Given the description of an element on the screen output the (x, y) to click on. 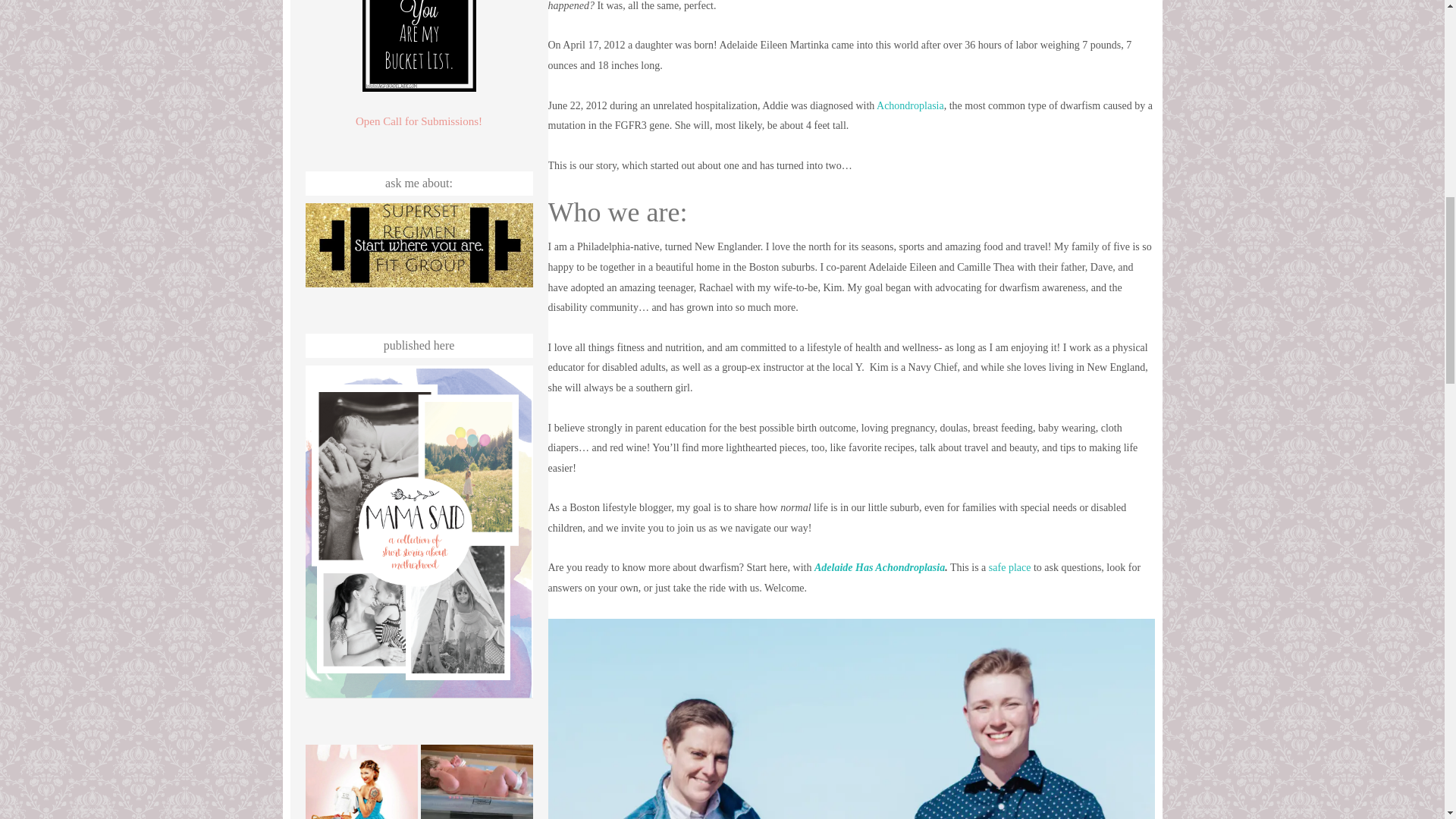
Achondroplasia (909, 105)
Adelaide Has Achondroplasia (878, 567)
The First Post (476, 781)
What Month Should I Get Pregnant? (360, 781)
safe place (1009, 567)
